Given the description of an element on the screen output the (x, y) to click on. 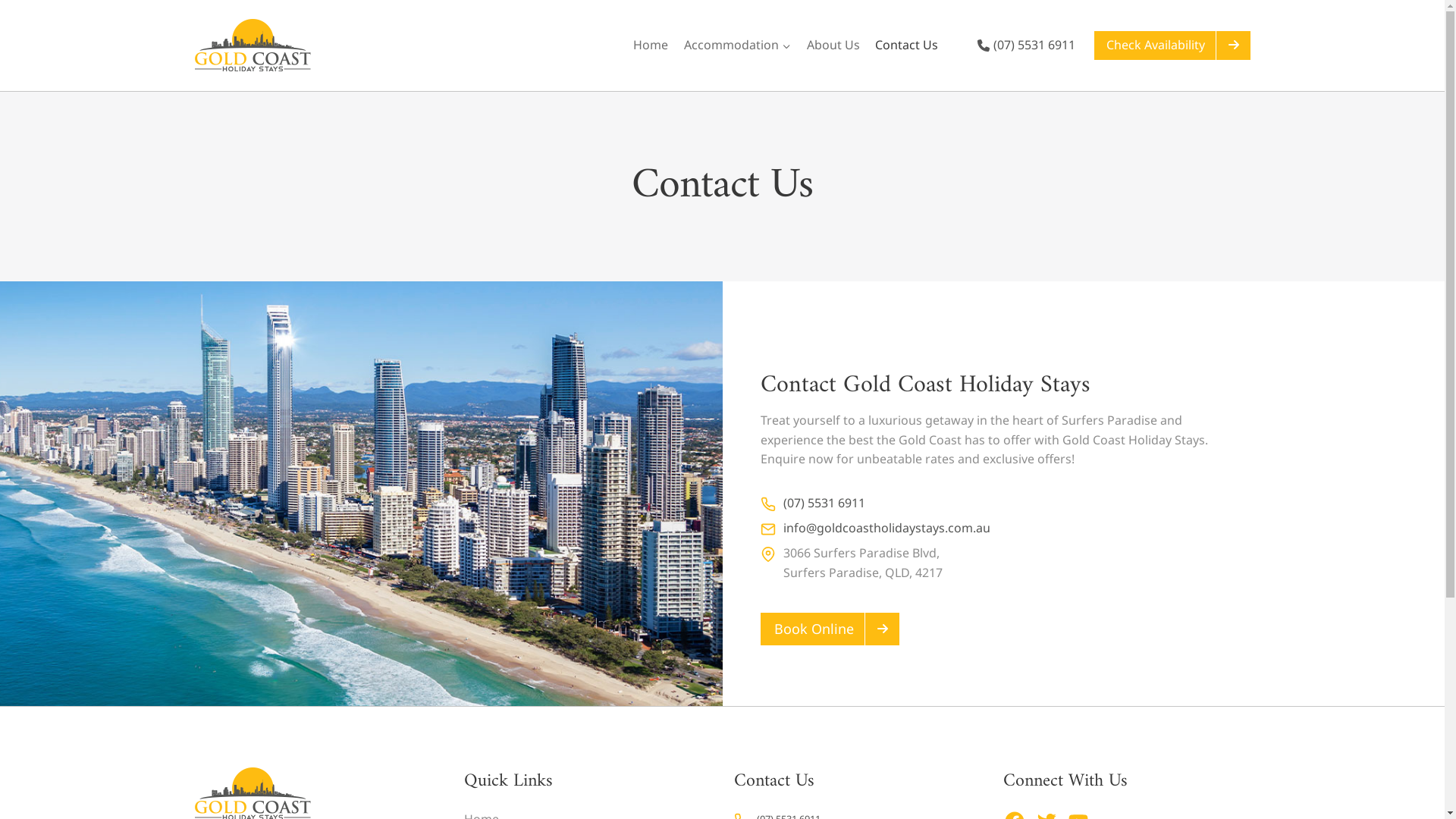
(07) 5531 6911 Element type: text (1025, 45)
Accommodation Element type: text (736, 45)
Contact Us Element type: text (906, 45)
About Us Element type: text (832, 45)
(07) 5531 6911 Element type: text (811, 503)
info@goldcoastholidaystays.com.au Element type: text (874, 528)
Home Element type: text (650, 45)
Book Online Element type: text (828, 628)
Check Availability Element type: text (1171, 45)
